Given the description of an element on the screen output the (x, y) to click on. 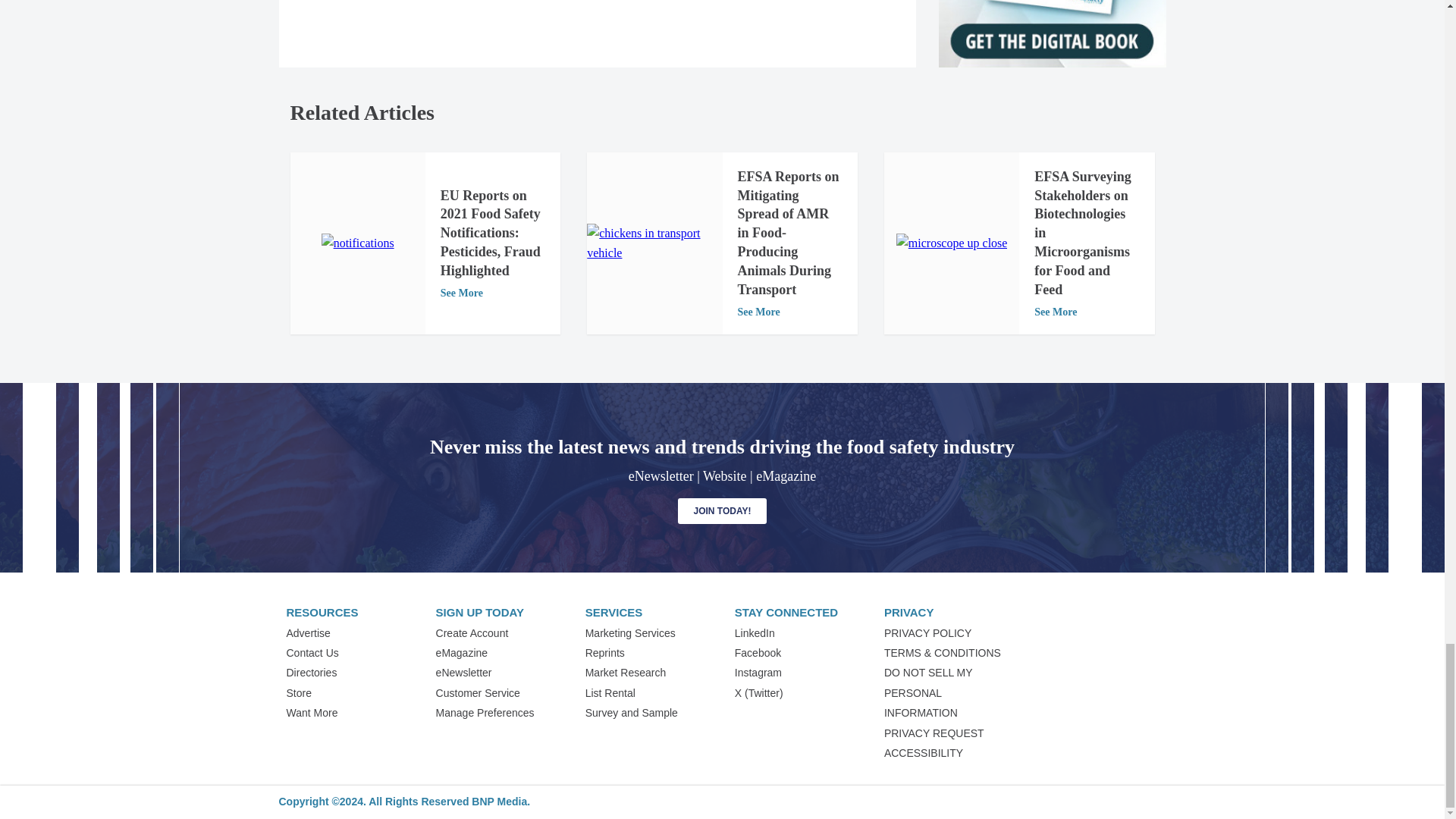
chickens in transport vehicle (654, 243)
notifications (357, 243)
microscope up close.png (951, 243)
